Given the description of an element on the screen output the (x, y) to click on. 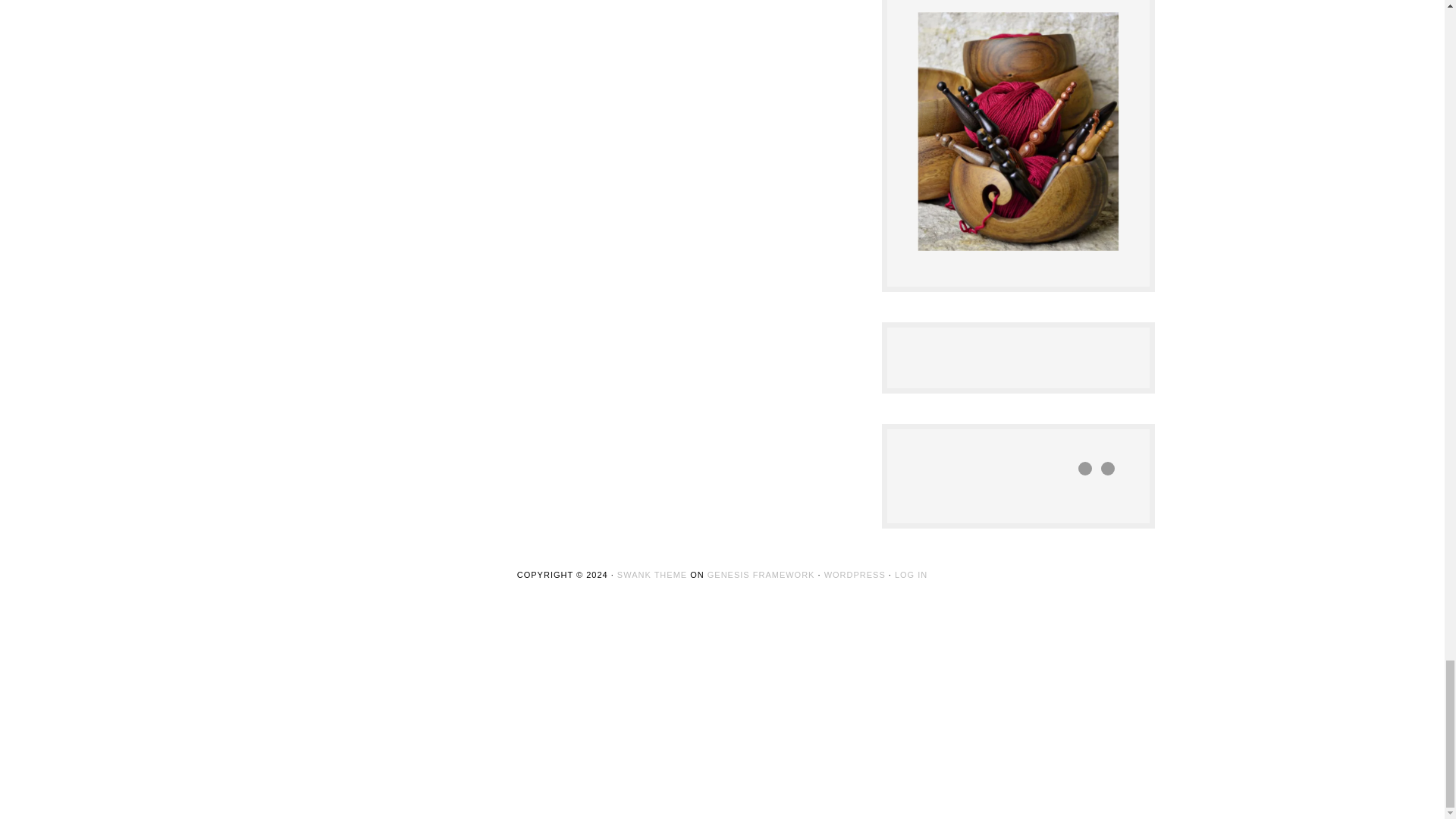
WORDPRESS (854, 574)
GENESIS FRAMEWORK (761, 574)
LOG IN (911, 574)
SWANK THEME (652, 574)
